Given the description of an element on the screen output the (x, y) to click on. 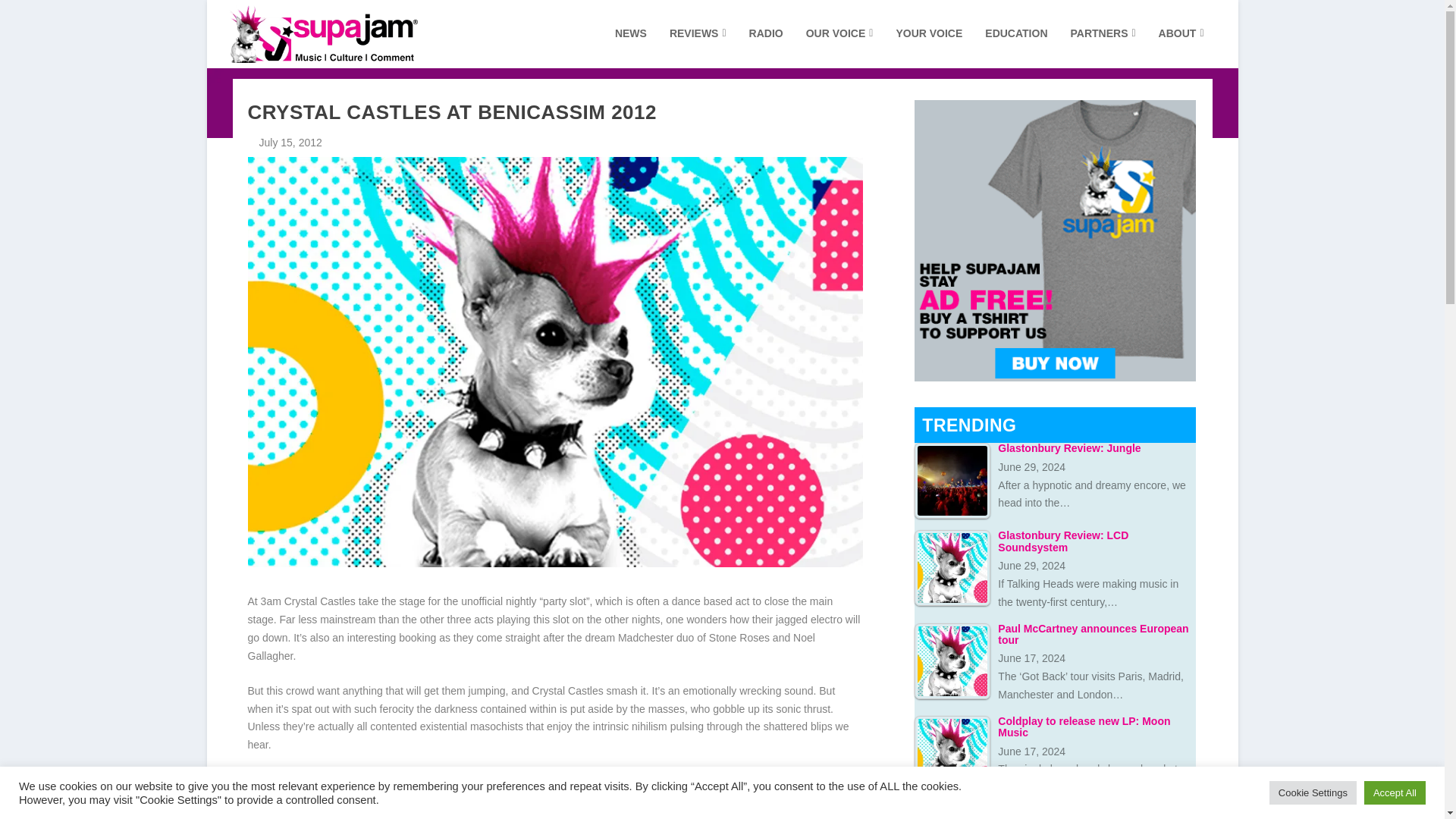
Paul McCartney announces European tour (952, 661)
Glastonbury Review: LCD Soundsystem (952, 567)
Coldplay to release new LP: Moon Music (952, 753)
Glastonbury Review: Jungle (952, 480)
REVIEWS (697, 47)
Glastonbury Review: Alvvays (952, 813)
EDUCATION (1015, 47)
OUR VOICE (839, 47)
YOUR VOICE (928, 47)
